Given the description of an element on the screen output the (x, y) to click on. 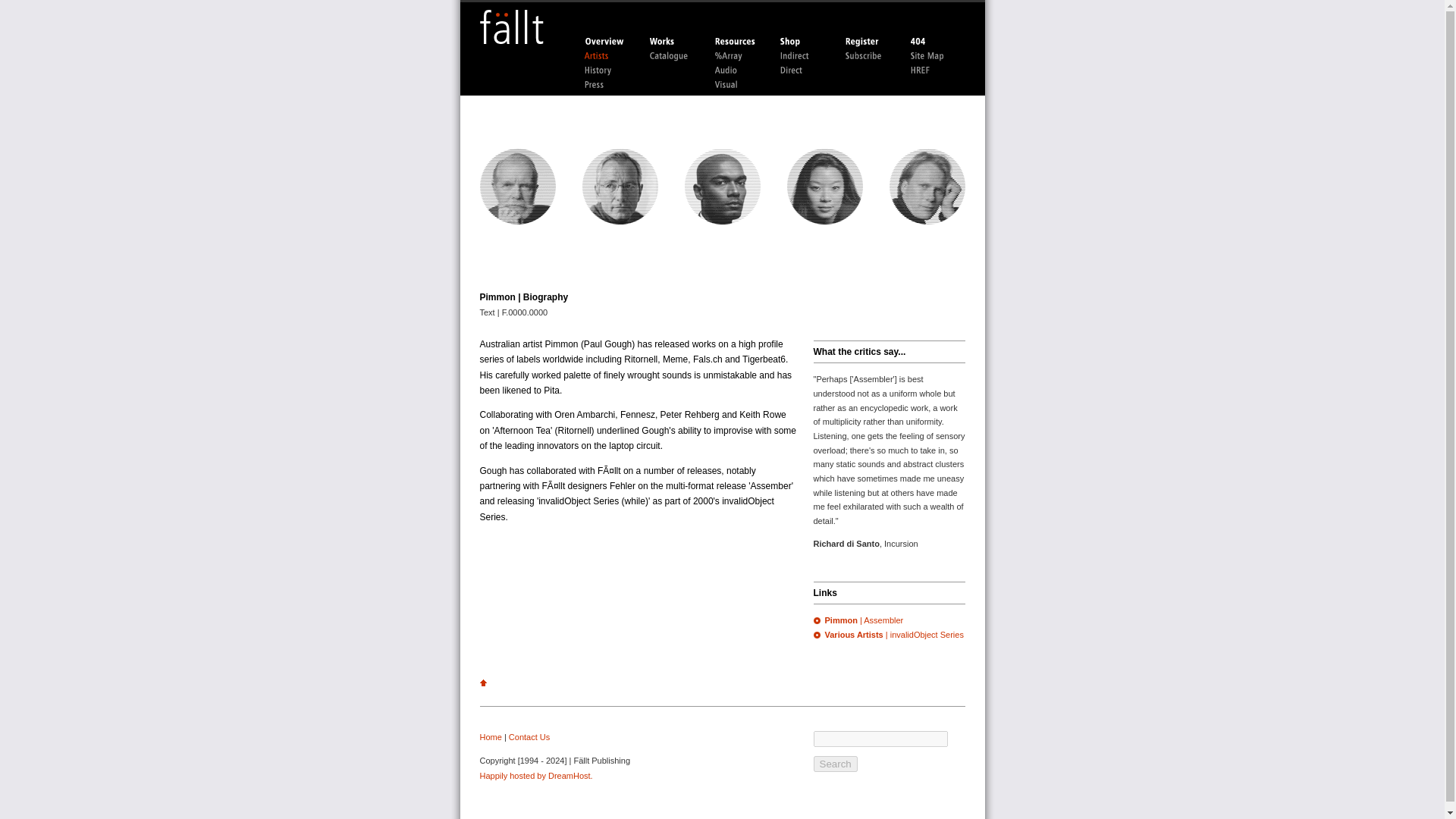
Indirect (803, 56)
Sitemap (934, 56)
Artists (608, 56)
Catalogue (673, 56)
Audio (739, 70)
Subscribe (869, 56)
Happily hosted by DreamHost. (535, 775)
History (608, 70)
Search (834, 763)
Press (608, 84)
HREF (934, 70)
Direct (803, 70)
Search (834, 763)
Visual (739, 84)
Home (489, 737)
